Given the description of an element on the screen output the (x, y) to click on. 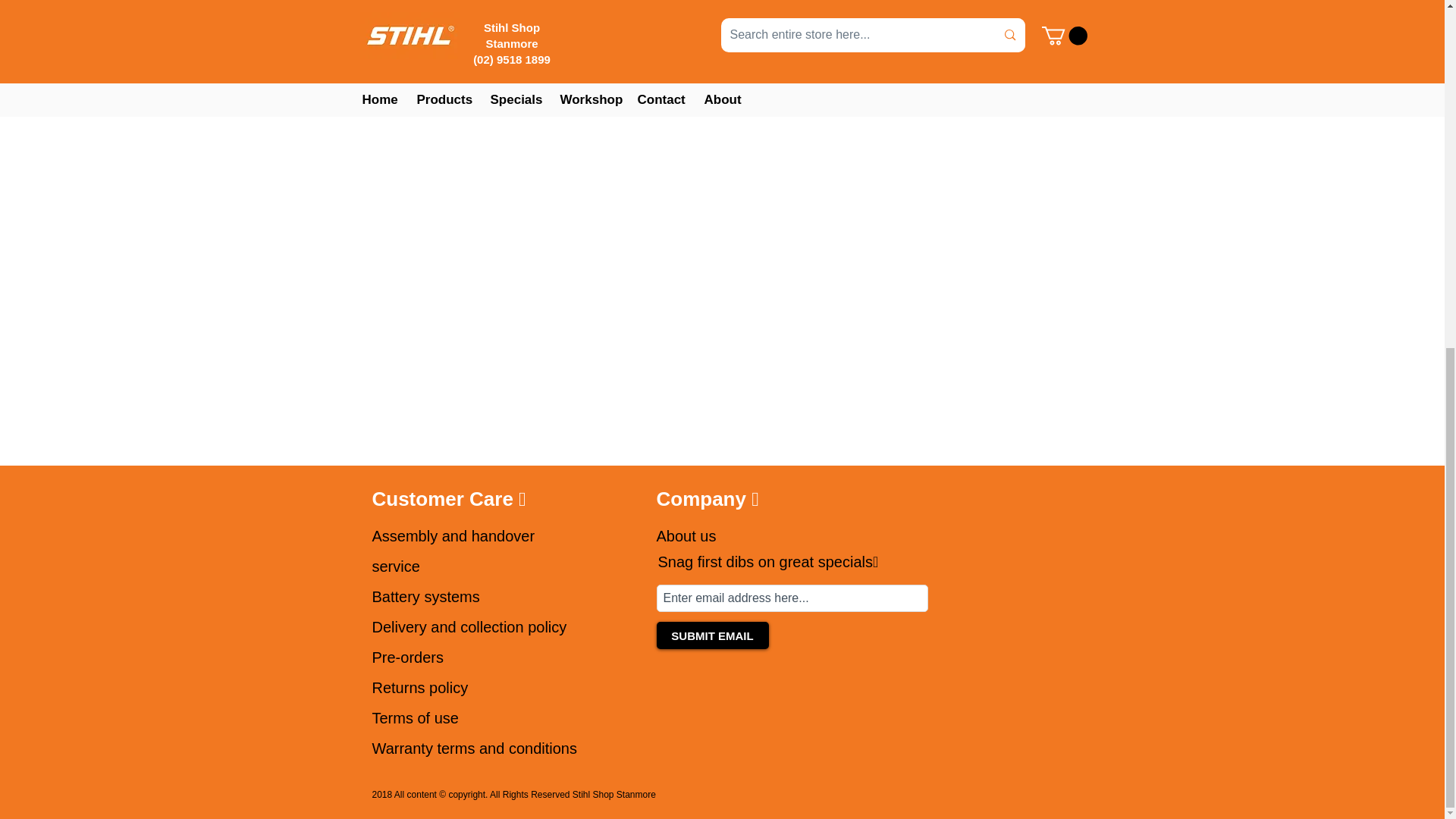
Terms of use (414, 718)
Assembly and handover service (452, 550)
SUBMIT EMAIL (712, 635)
About us (686, 535)
Pre-orders (406, 657)
Battery systems (425, 596)
Returns policy (419, 687)
Warranty terms and conditions (473, 748)
